Given the description of an element on the screen output the (x, y) to click on. 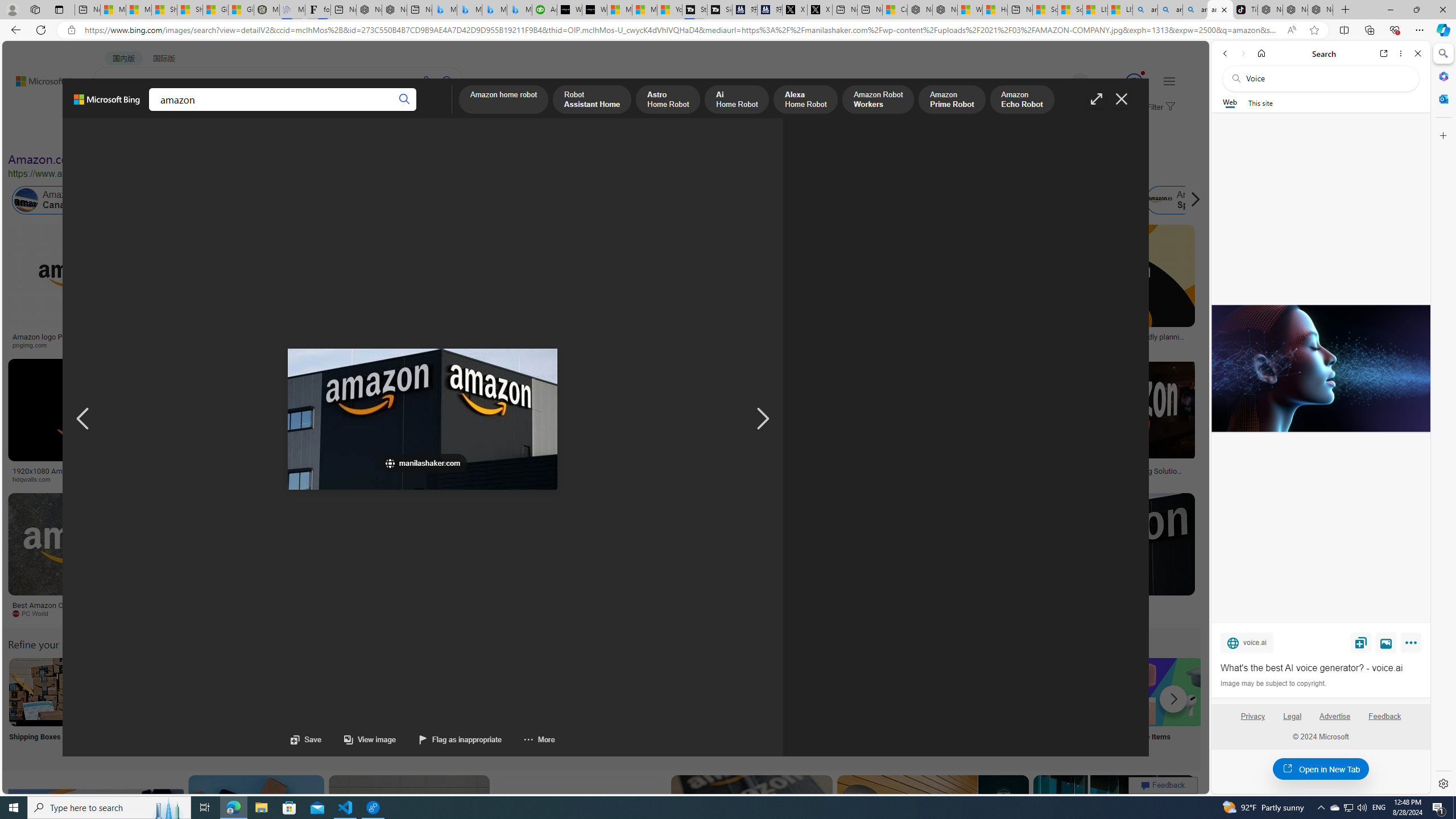
usatoday.com (403, 344)
logopng.com.br (764, 344)
Amazon Spain (1183, 199)
Amazon Retail Store Retail Store (493, 706)
Prime Shopping Online (944, 706)
Amazon Labor Law Violation in California (642, 199)
PC World (83, 613)
WEB (114, 111)
Amazon.com.au (923, 199)
Amazon (1032, 605)
How Much Is Amazon's Net Worth? | GOBankingRates (275, 474)
Amazon Log into My Account (268, 691)
